Given the description of an element on the screen output the (x, y) to click on. 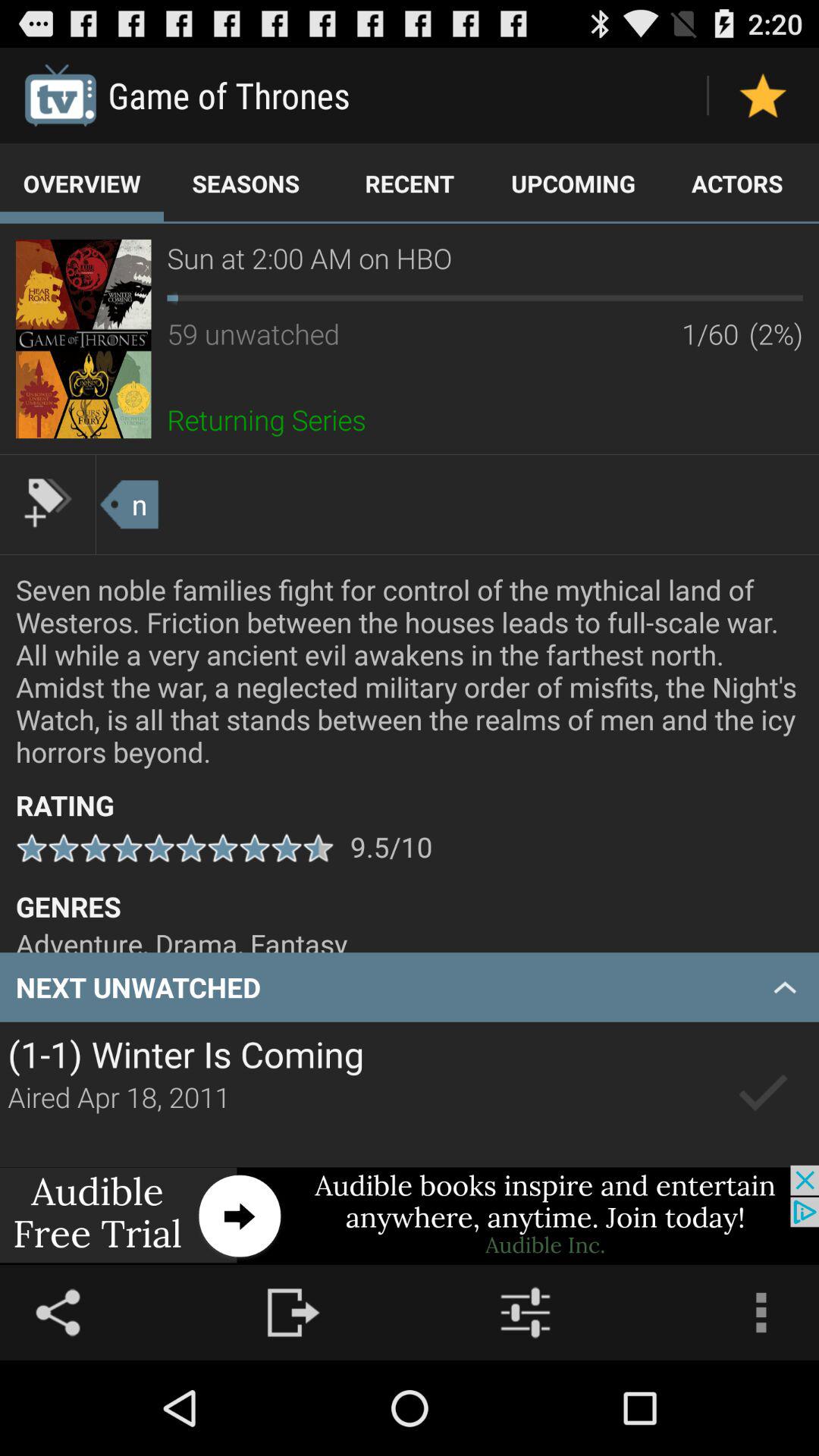
open advertisement (409, 1214)
